Given the description of an element on the screen output the (x, y) to click on. 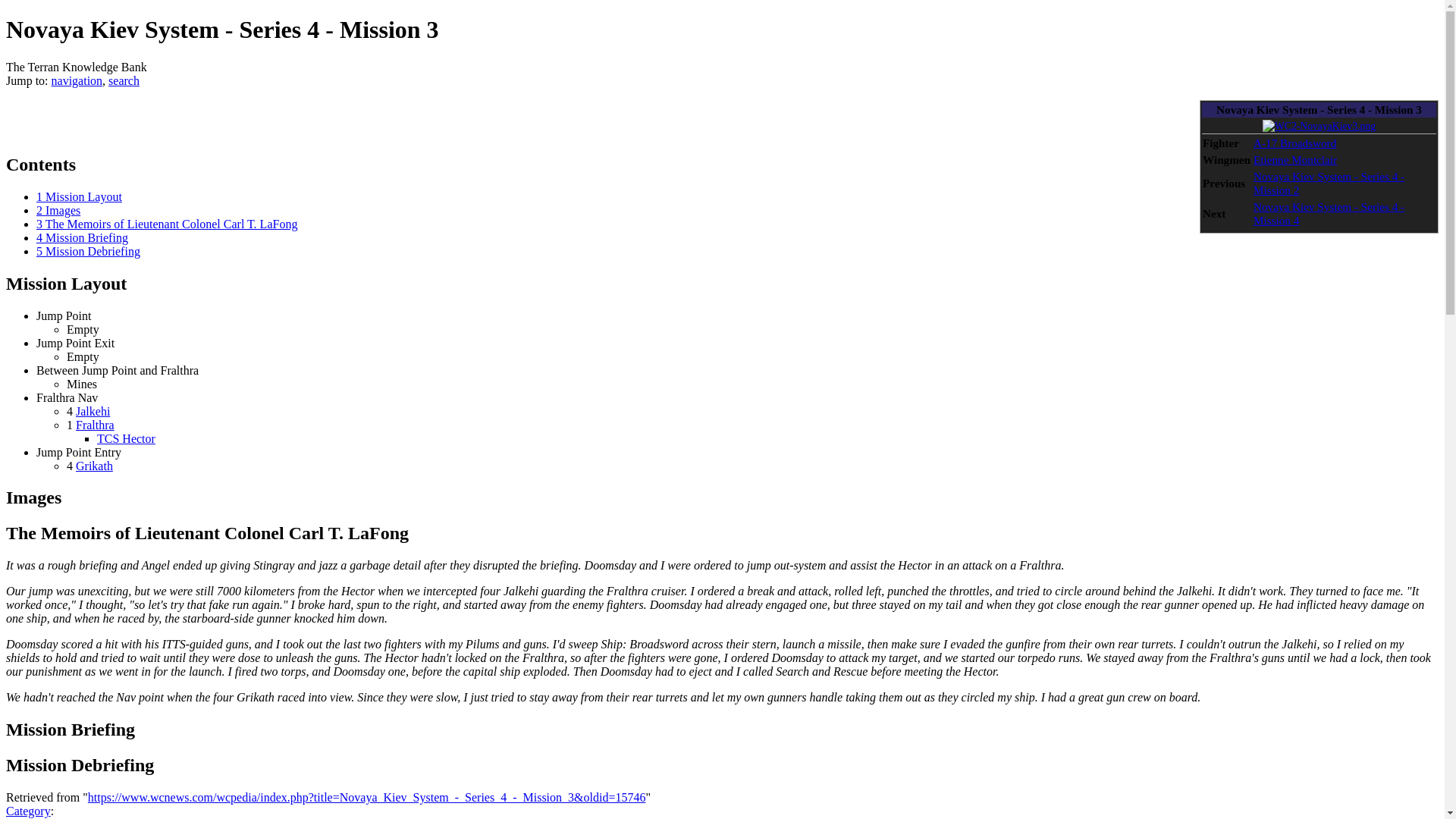
Novaya Kiev System - Series 4 - Mission 4 (1329, 212)
search (123, 80)
TCS Hector (126, 438)
Category (27, 810)
A-17 Broadsword (1294, 142)
Grikath (94, 465)
Grikath (94, 465)
1 Mission Layout (79, 196)
Jalkehi (92, 410)
Fralthra (95, 424)
Novaya Kiev System - Series 4 - Mission 4 (1329, 212)
Jalkehi (92, 410)
4 Mission Briefing (82, 237)
Novaya Kiev System - Series 4 - Mission 2 (1329, 182)
3 The Memoirs of Lieutenant Colonel Carl T. LaFong (166, 223)
